Given the description of an element on the screen output the (x, y) to click on. 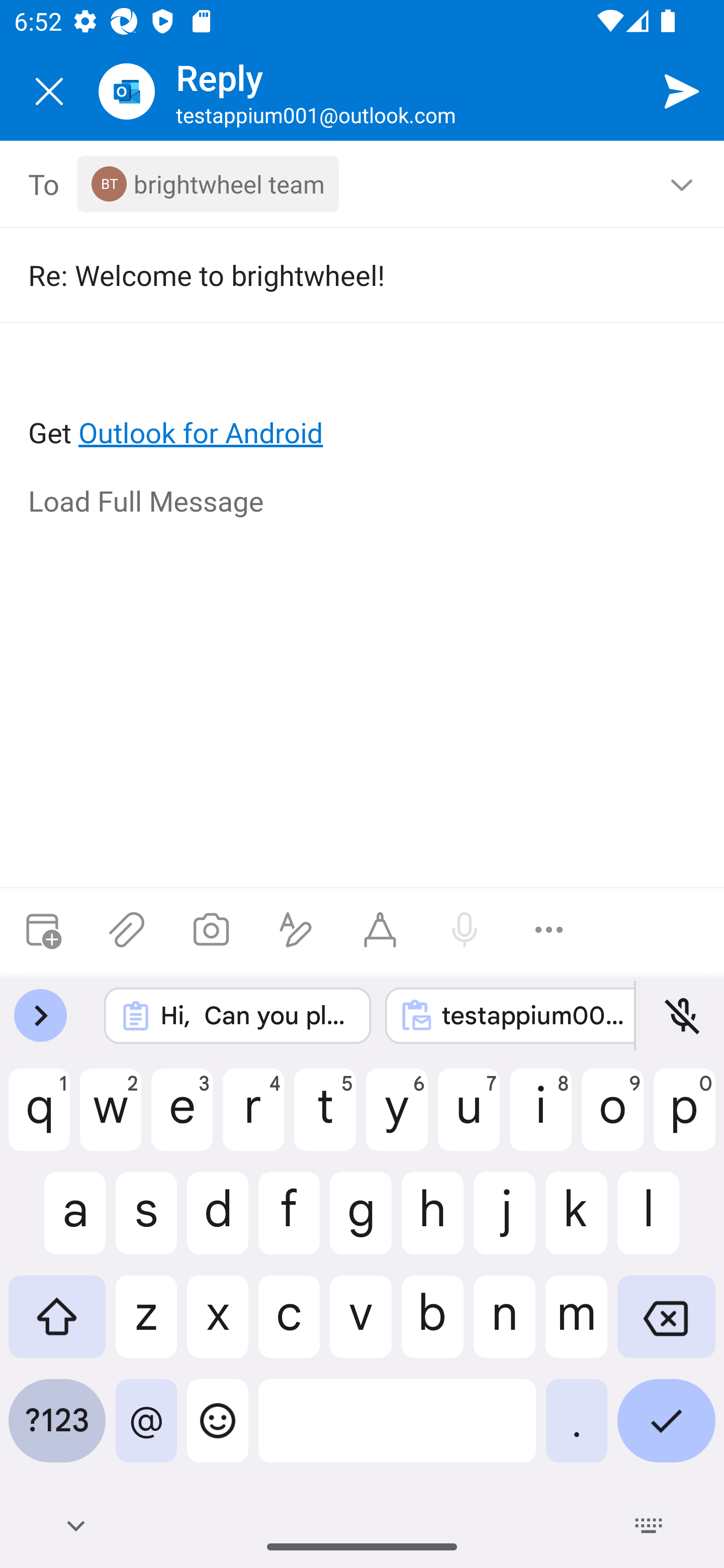
Close (49, 91)
Send (681, 90)
Re: Welcome to brightwheel! (347, 274)


Get Outlook for Android (363, 400)
Load Full Message (363, 502)
Attach meeting (42, 929)
Attach files (126, 929)
Take a photo (210, 929)
Show formatting options (295, 929)
Start Ink compose (380, 929)
More options (548, 929)
